Given the description of an element on the screen output the (x, y) to click on. 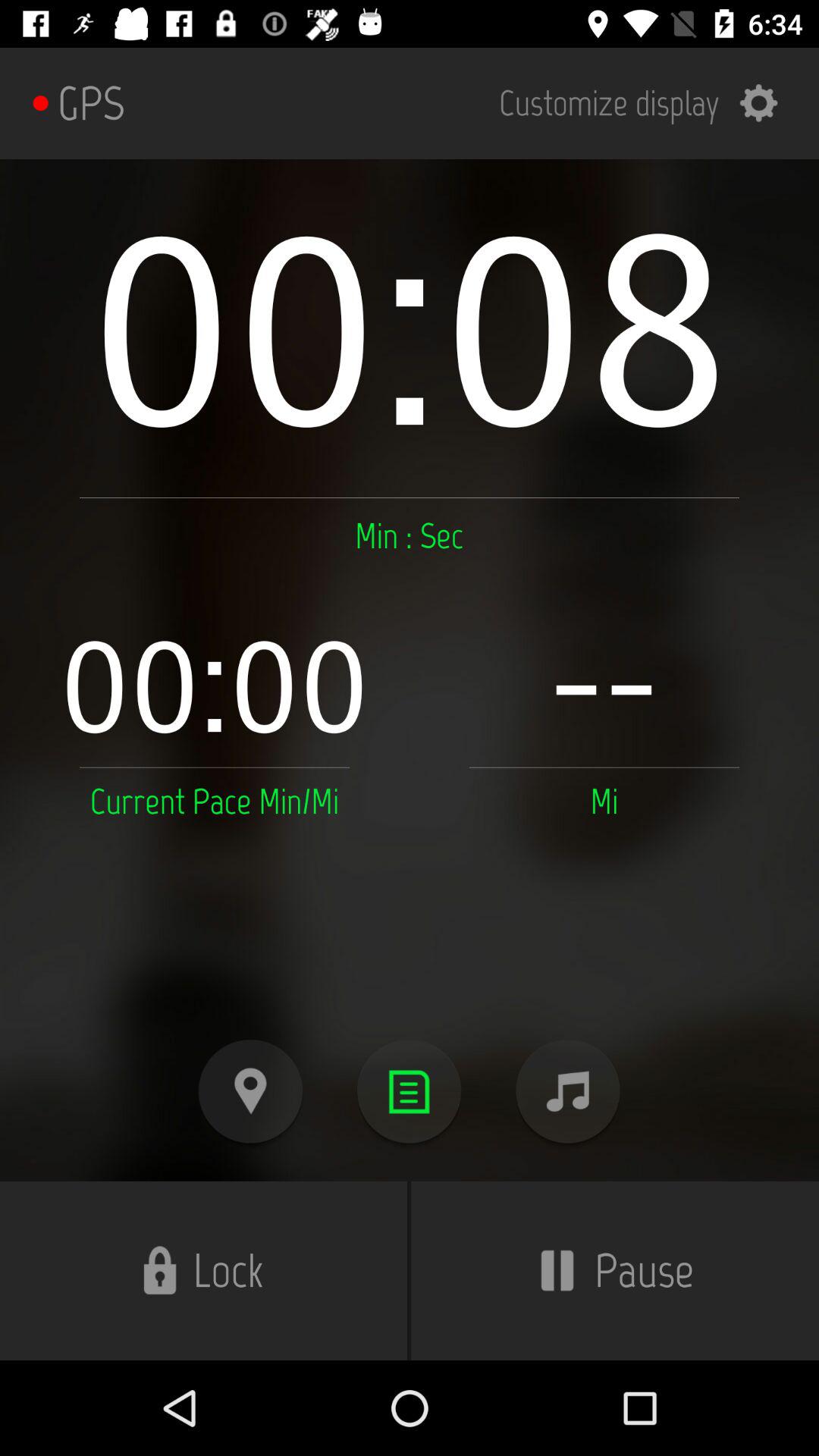
turn off the item next to gps (648, 103)
